Given the description of an element on the screen output the (x, y) to click on. 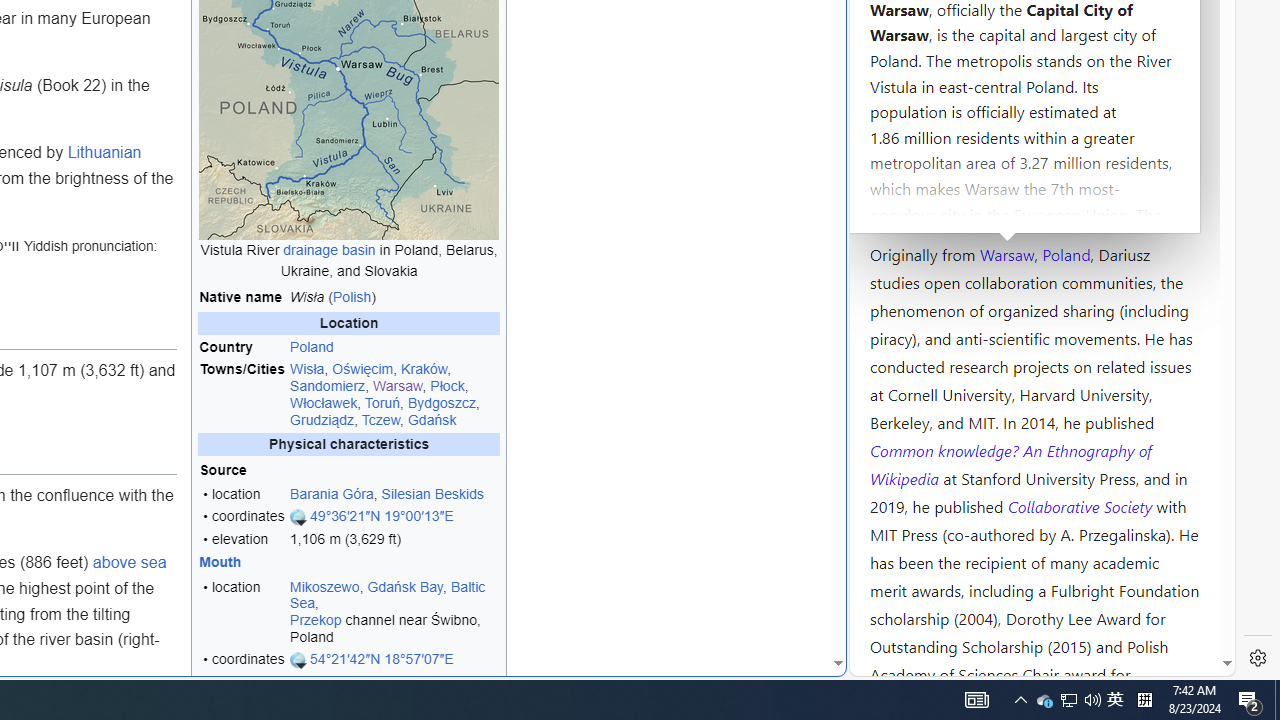
Tczew (380, 419)
Native name (241, 297)
drainage basin (329, 249)
Mouth (241, 562)
Harvard University (934, 205)
Poland (394, 347)
Warsaw (1006, 253)
